Given the description of an element on the screen output the (x, y) to click on. 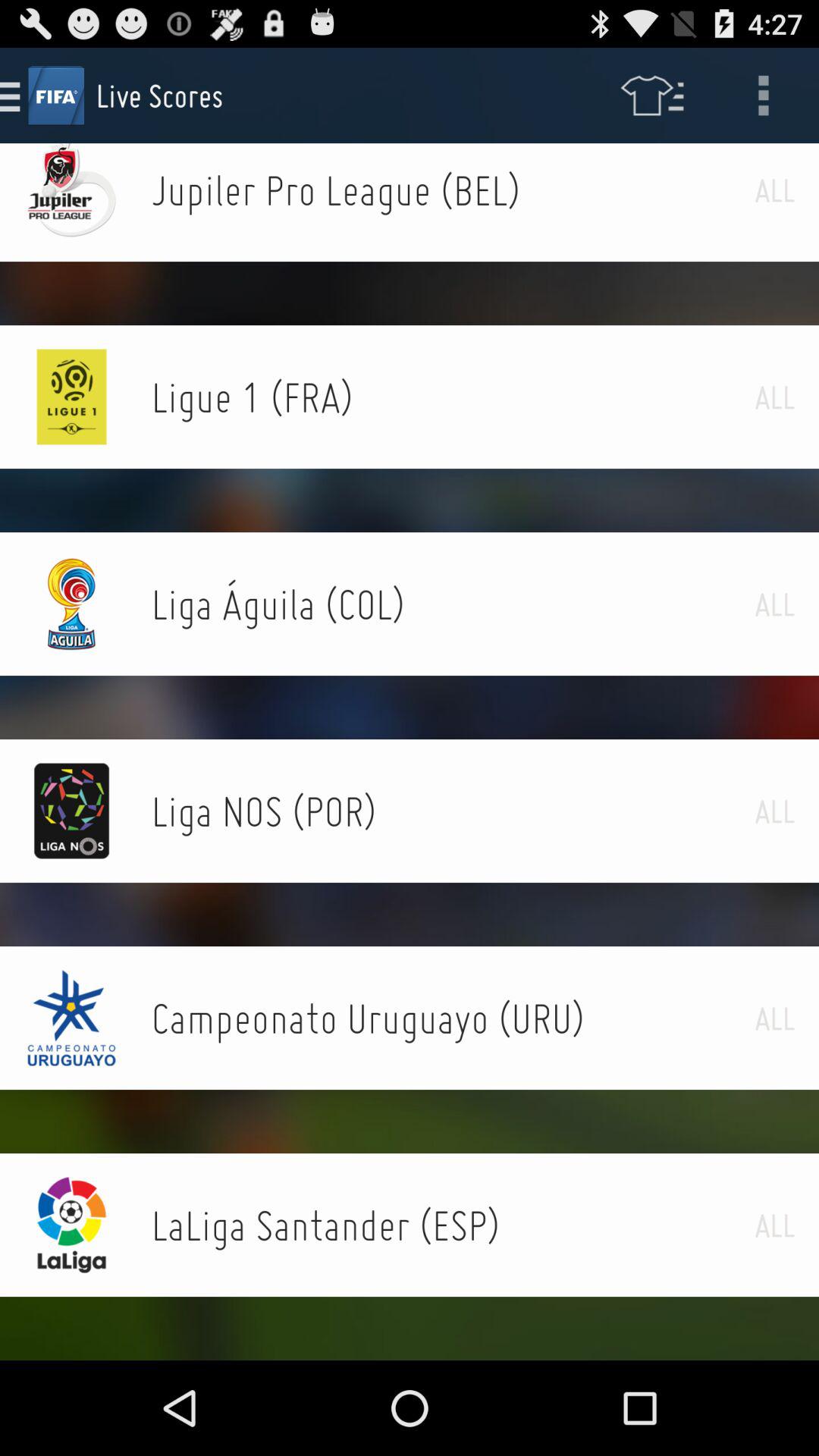
jump until ligue 1 (fra) (452, 396)
